Given the description of an element on the screen output the (x, y) to click on. 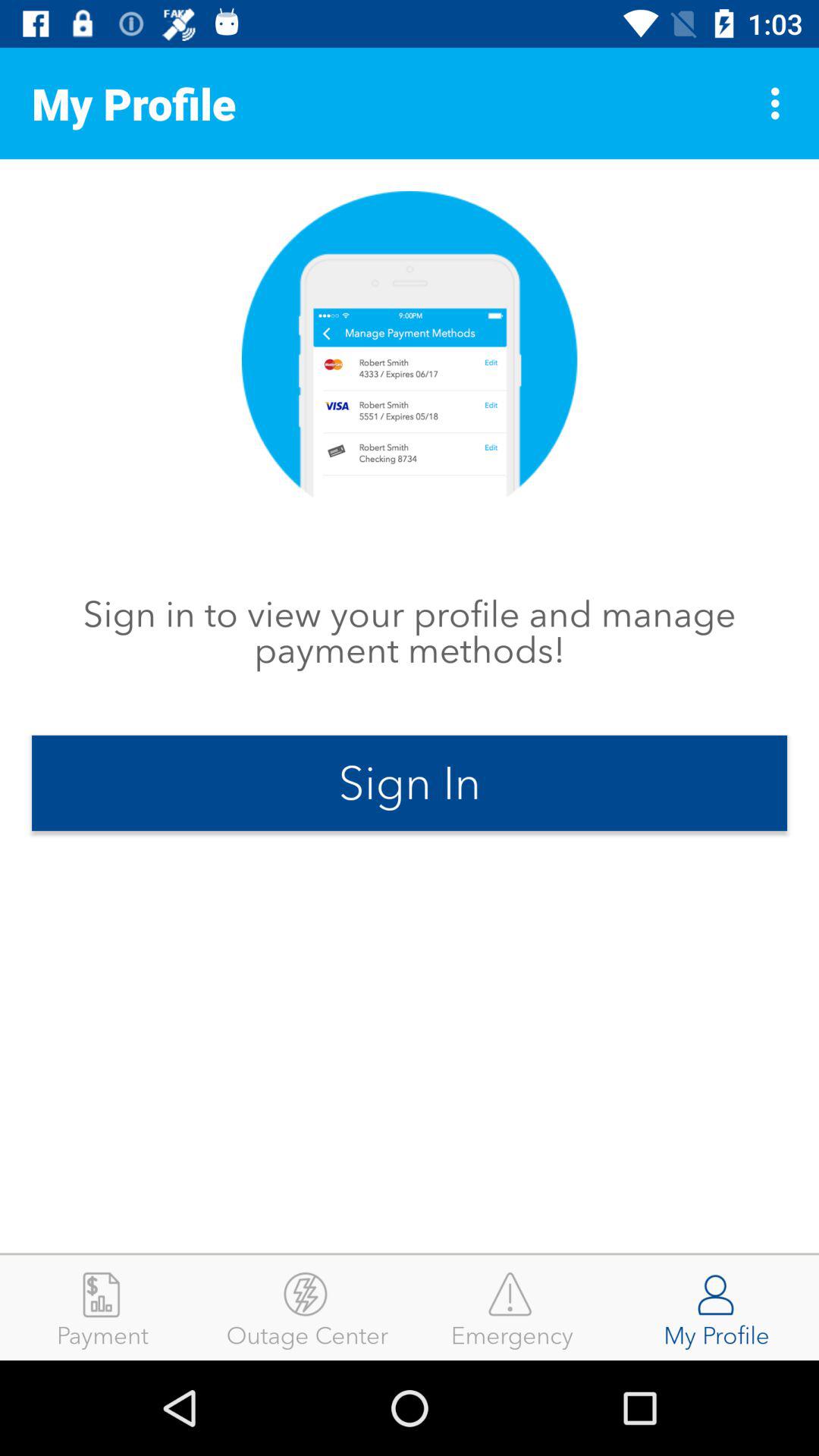
jump until outage center (306, 1307)
